Given the description of an element on the screen output the (x, y) to click on. 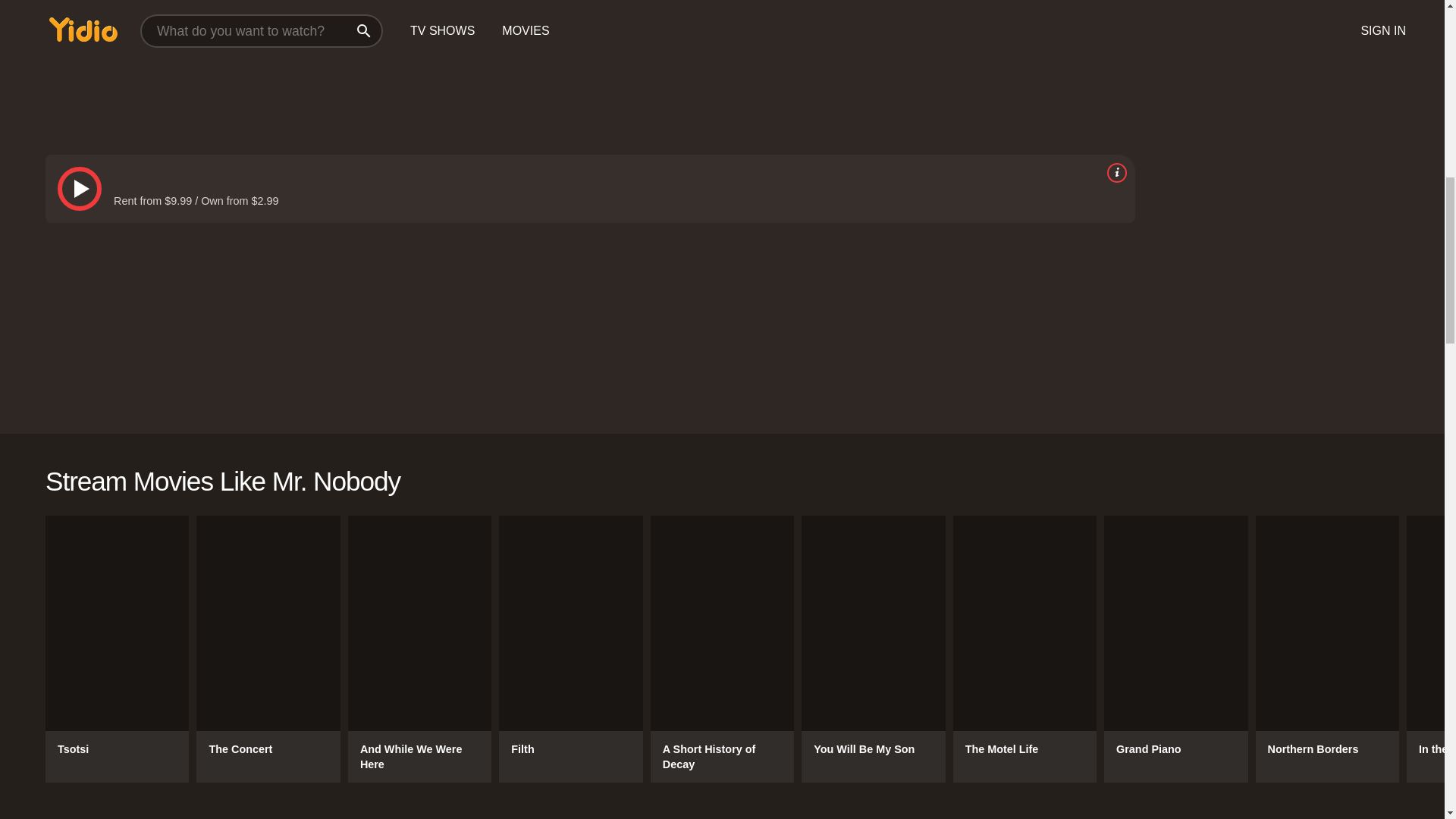
Advertisement (500, 63)
